Given the description of an element on the screen output the (x, y) to click on. 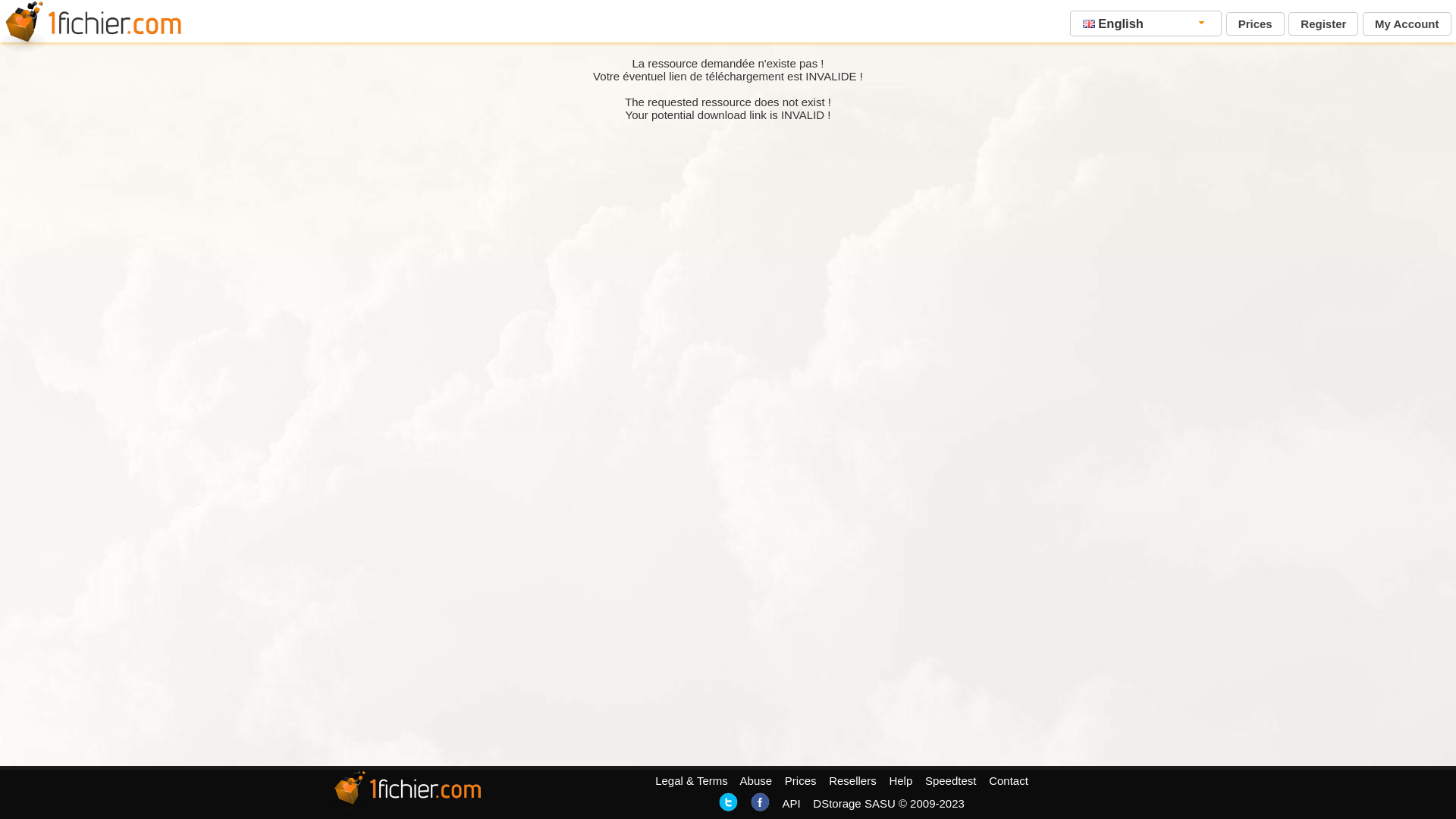
Legal & Terms Element type: text (691, 780)
Contact Element type: text (1008, 780)
API Element type: text (790, 803)
Prices Element type: text (800, 780)
Prices Element type: text (1255, 23)
Register Element type: text (1323, 23)
My Account Element type: text (1406, 23)
Abuse Element type: text (756, 780)
Help Element type: text (900, 780)
Speedtest Element type: text (950, 780)
Resellers Element type: text (852, 780)
